Given the description of an element on the screen output the (x, y) to click on. 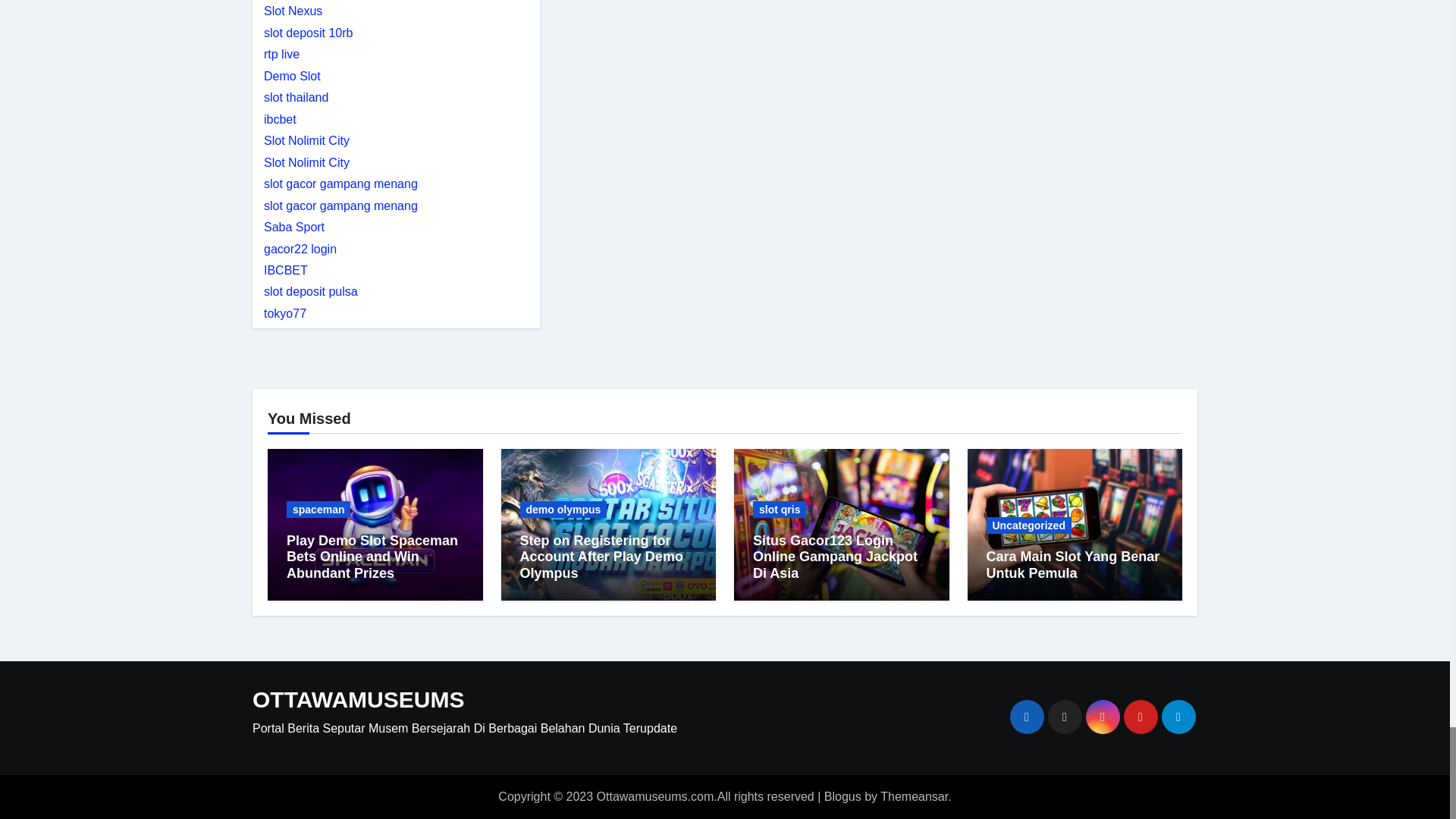
Permalink to: Cara Main Slot Yang Benar Untuk Pemula (1071, 564)
